Given the description of an element on the screen output the (x, y) to click on. 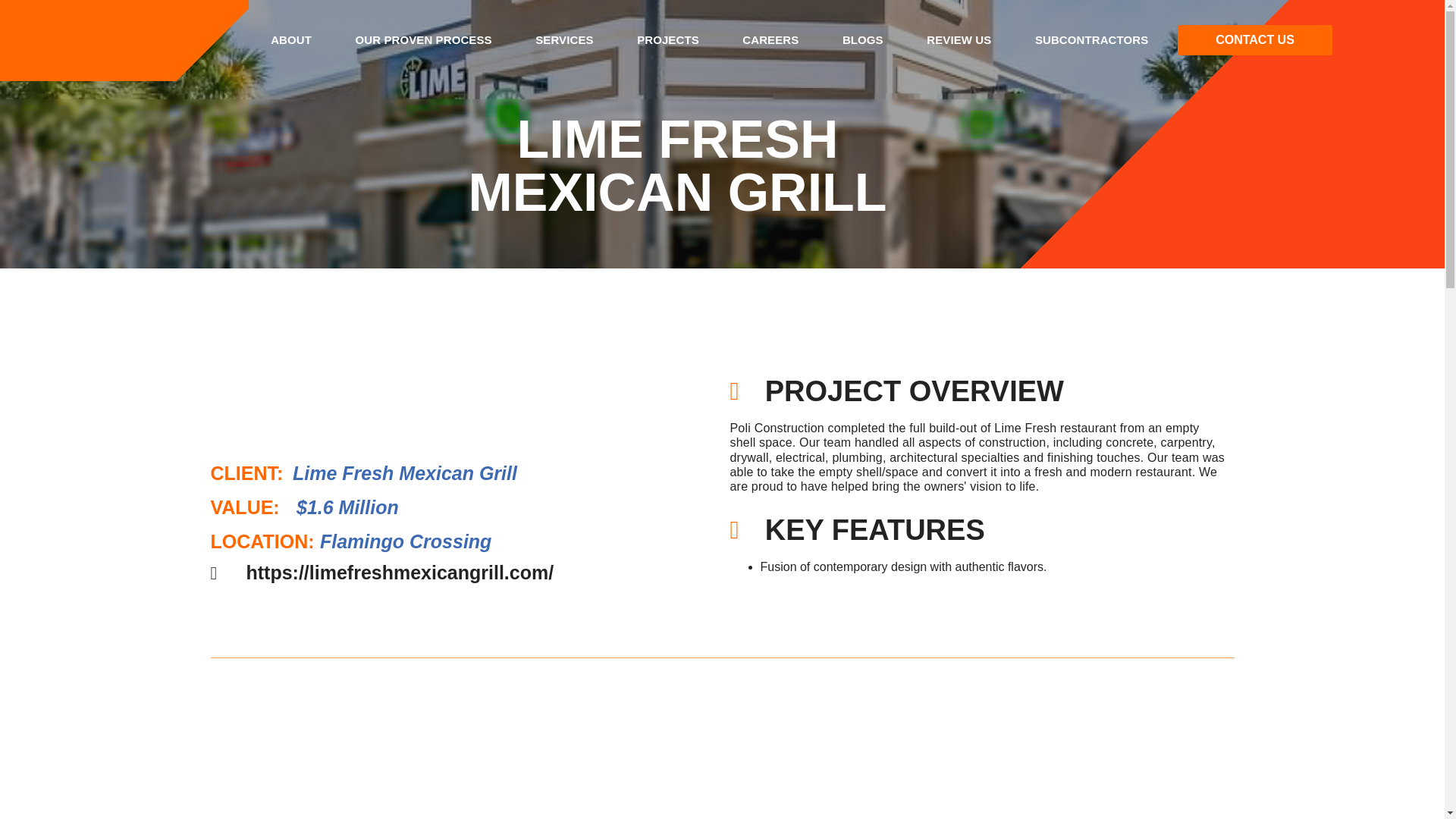
PROJECTS (667, 39)
CAREERS (770, 39)
BLOGS (862, 39)
CONTACT US (1254, 40)
REVIEW US (959, 39)
SERVICES (563, 39)
SUBCONTRACTORS (1091, 39)
OUR PROVEN PROCESS (423, 39)
ABOUT (290, 39)
